Given the description of an element on the screen output the (x, y) to click on. 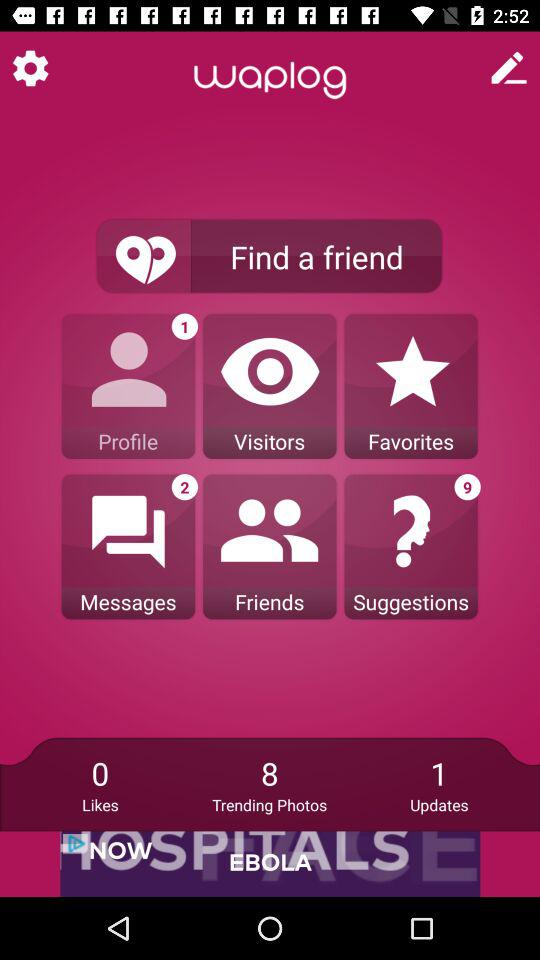
go edit (509, 68)
